Given the description of an element on the screen output the (x, y) to click on. 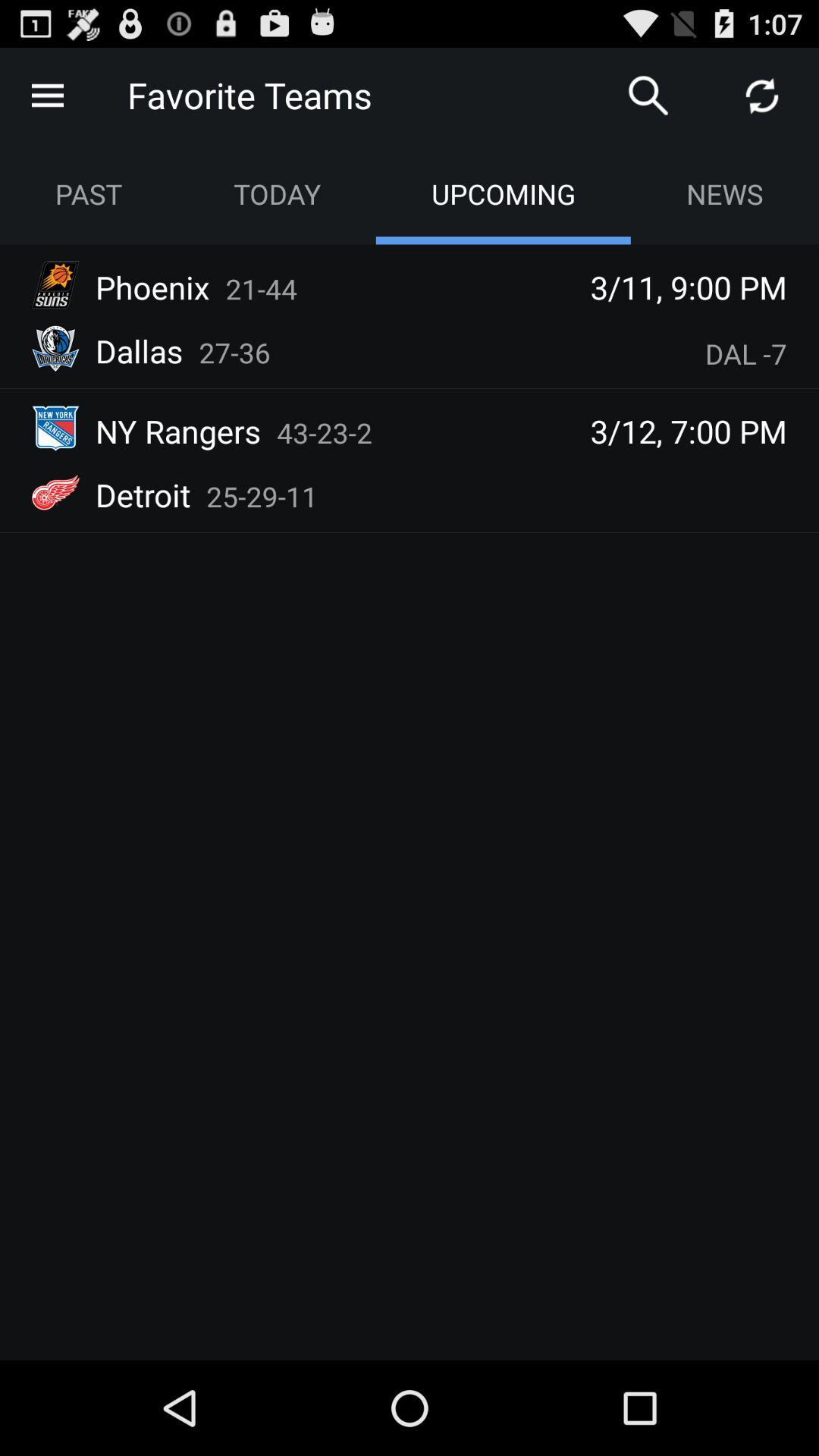
more button (47, 95)
